Given the description of an element on the screen output the (x, y) to click on. 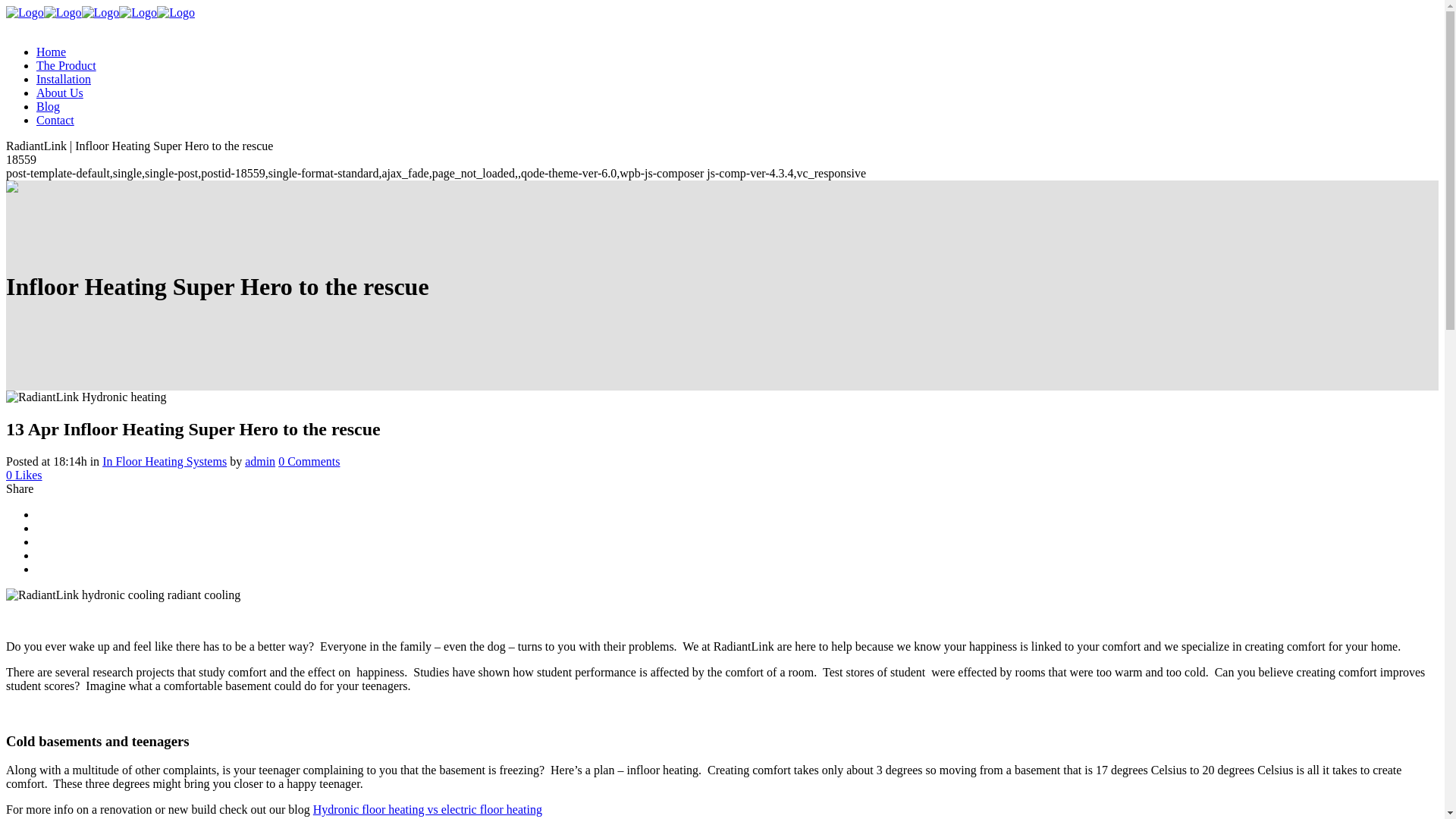
In Floor Heating Systems (164, 461)
Like this (23, 474)
0 Likes (23, 474)
Installation (63, 78)
Blog (47, 106)
Contact (55, 119)
Home (50, 51)
0 Comments (308, 461)
Hydronic floor heating vs electric floor heating (427, 809)
Share (19, 488)
